Given the description of an element on the screen output the (x, y) to click on. 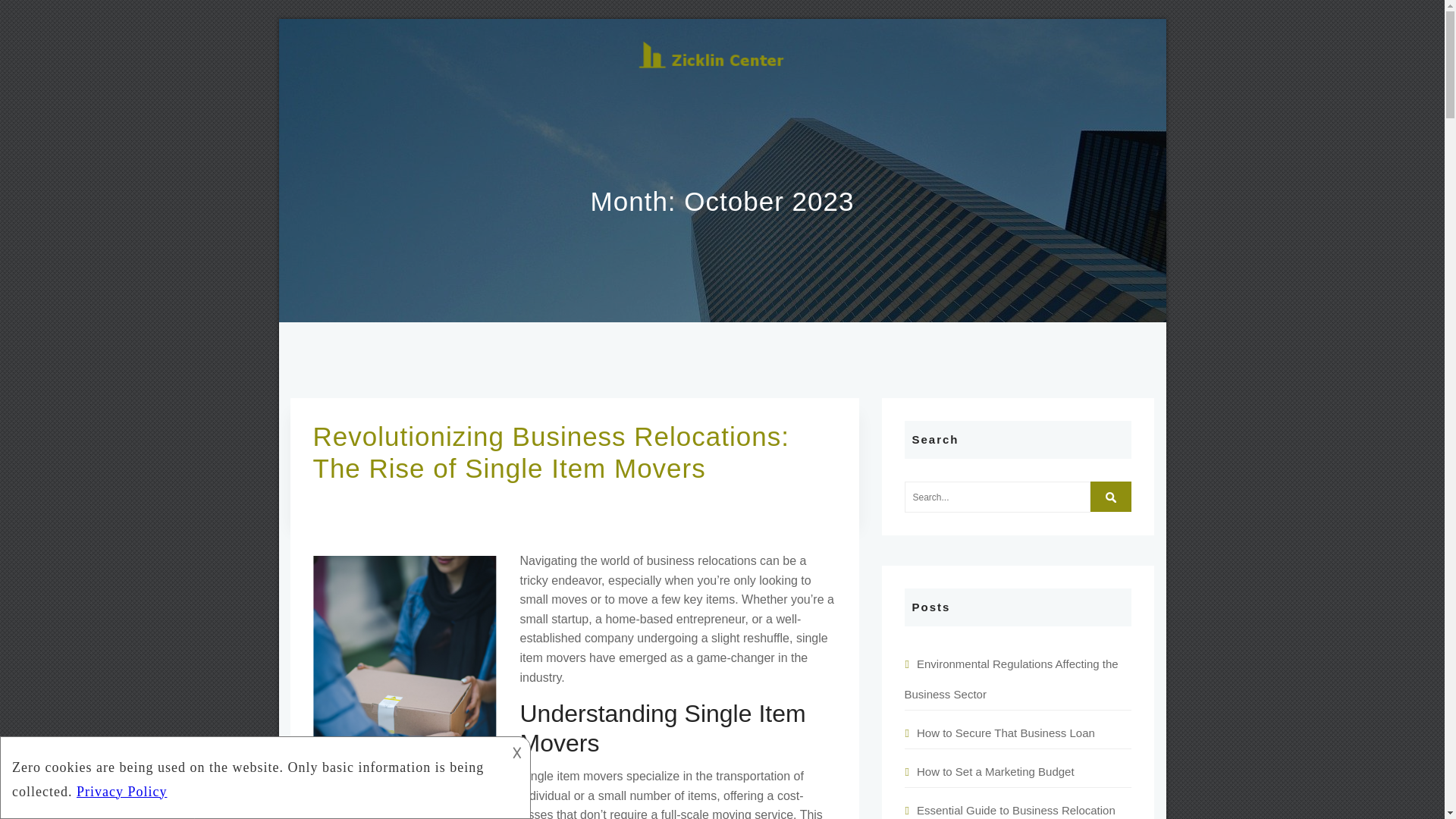
description (252, 775)
